Given the description of an element on the screen output the (x, y) to click on. 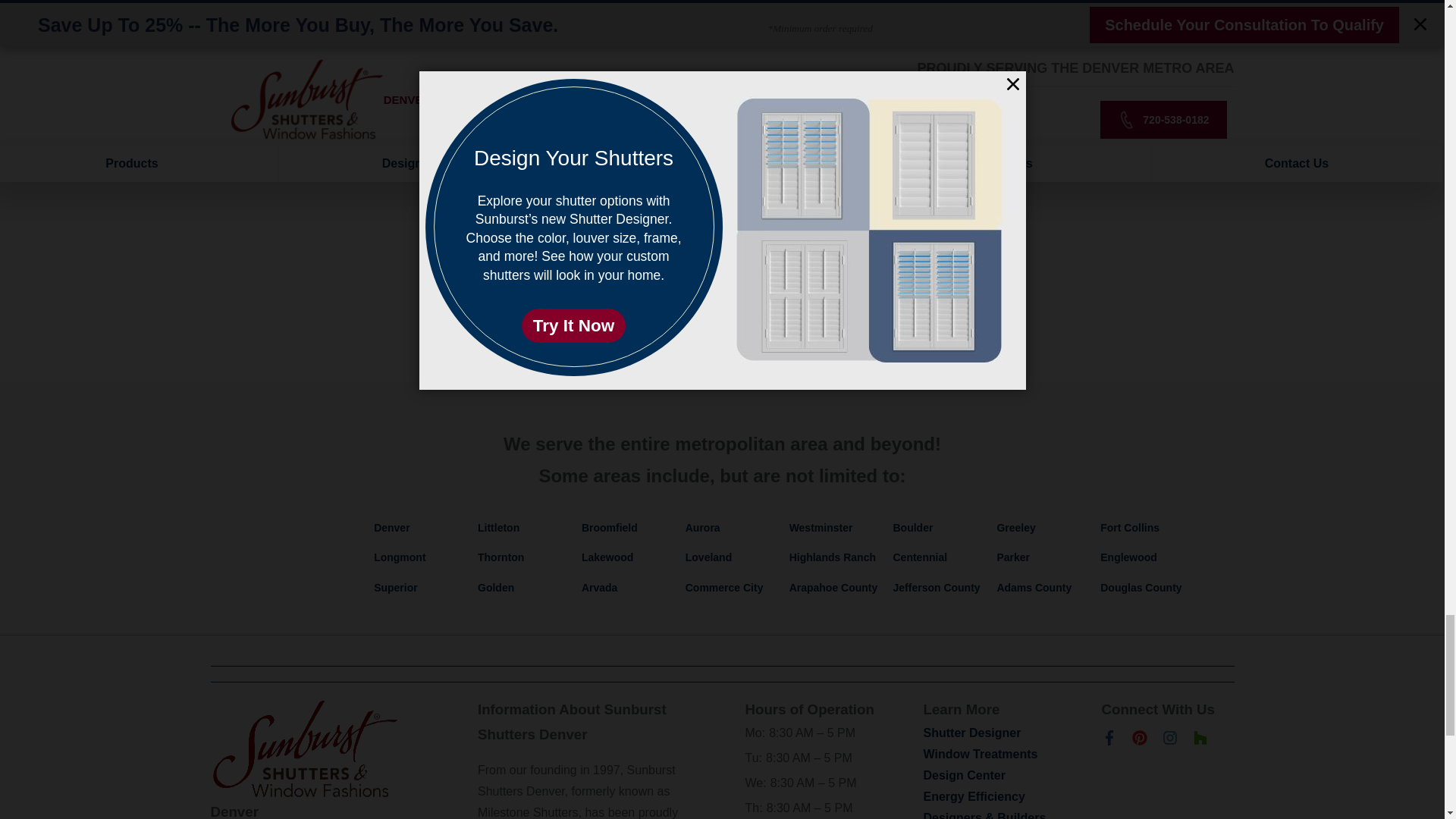
Like us on Facebook (1108, 740)
Follow us on Pinterest (1139, 740)
SCHEDULE NOW (722, 249)
Save us on Houzz (1199, 740)
Follow us on Instagram (1168, 740)
on (470, 198)
